Given the description of an element on the screen output the (x, y) to click on. 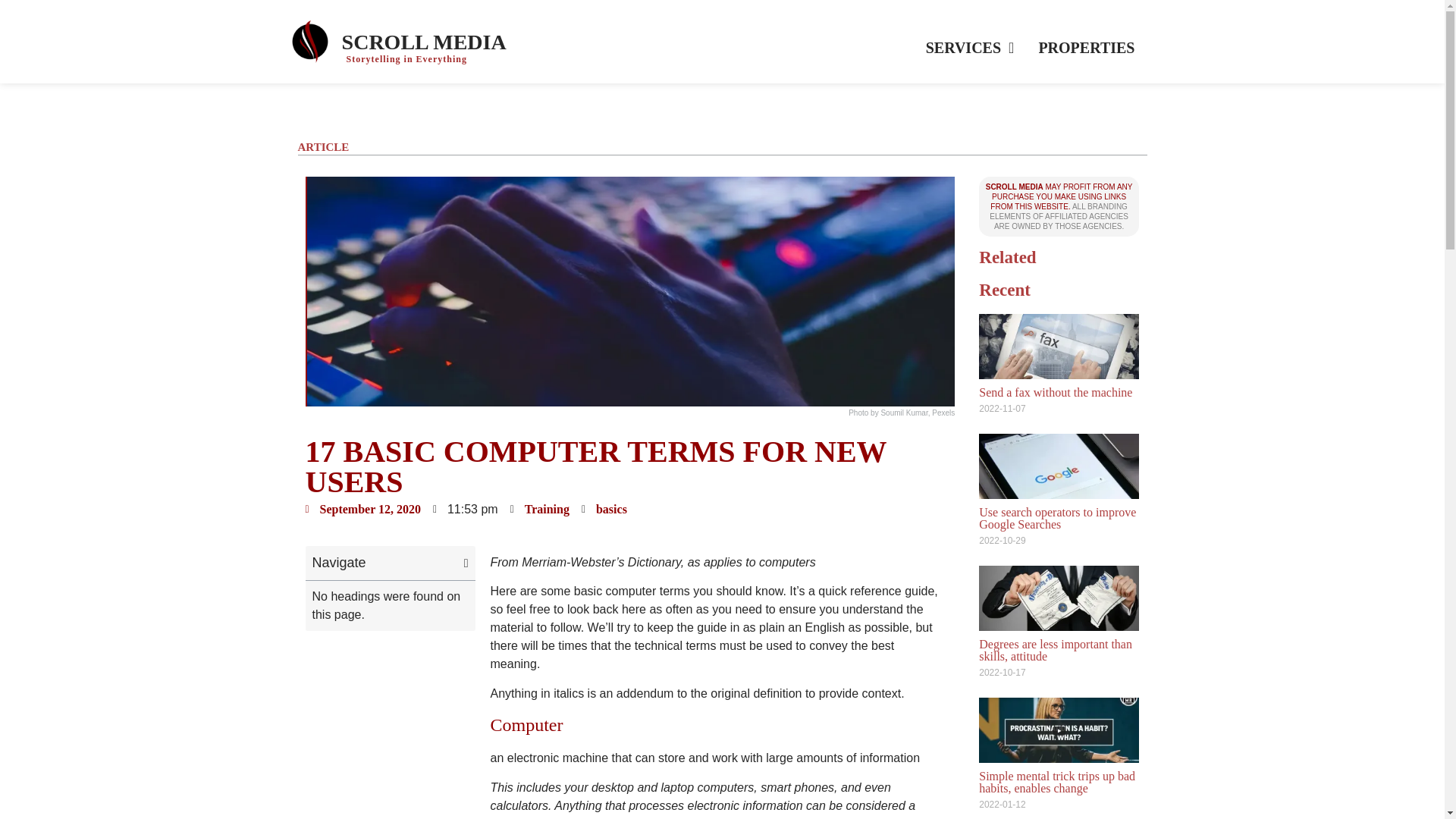
Simple mental trick trips up bad habits, enables change (1056, 781)
Storytelling in Everything (406, 59)
basics (611, 508)
PROPERTIES (1086, 47)
Training (546, 508)
Degrees are less important than skills, attitude (1055, 650)
Send a fax without the machine (1055, 391)
September 12, 2020 (362, 509)
Use search operators to improve Google Searches (1056, 518)
SERVICES (970, 47)
SCROLL MEDIA (424, 42)
